Given the description of an element on the screen output the (x, y) to click on. 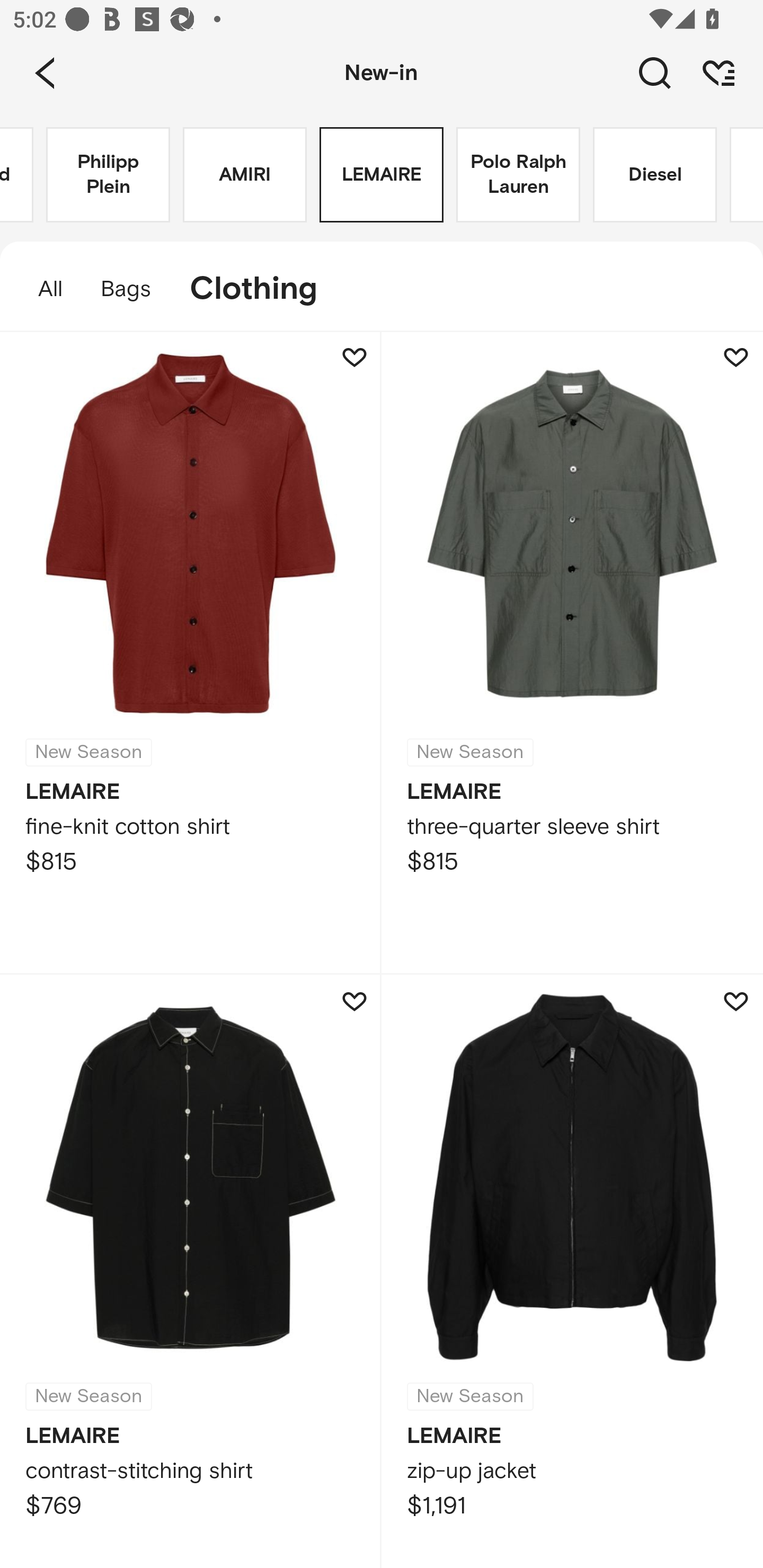
Philipp Plein (107, 174)
AMIRI (244, 174)
LEMAIRE (381, 174)
Polo Ralph Lauren (517, 174)
Diesel (654, 174)
All (40, 288)
Bags (125, 288)
Clothing (262, 288)
New Season LEMAIRE fine-knit cotton shirt $815 (190, 652)
New Season LEMAIRE three-quarter sleeve shirt $815 (572, 652)
New Season LEMAIRE contrast-stitching shirt $769 (190, 1271)
New Season LEMAIRE zip-up jacket $1,191 (572, 1271)
